Given the description of an element on the screen output the (x, y) to click on. 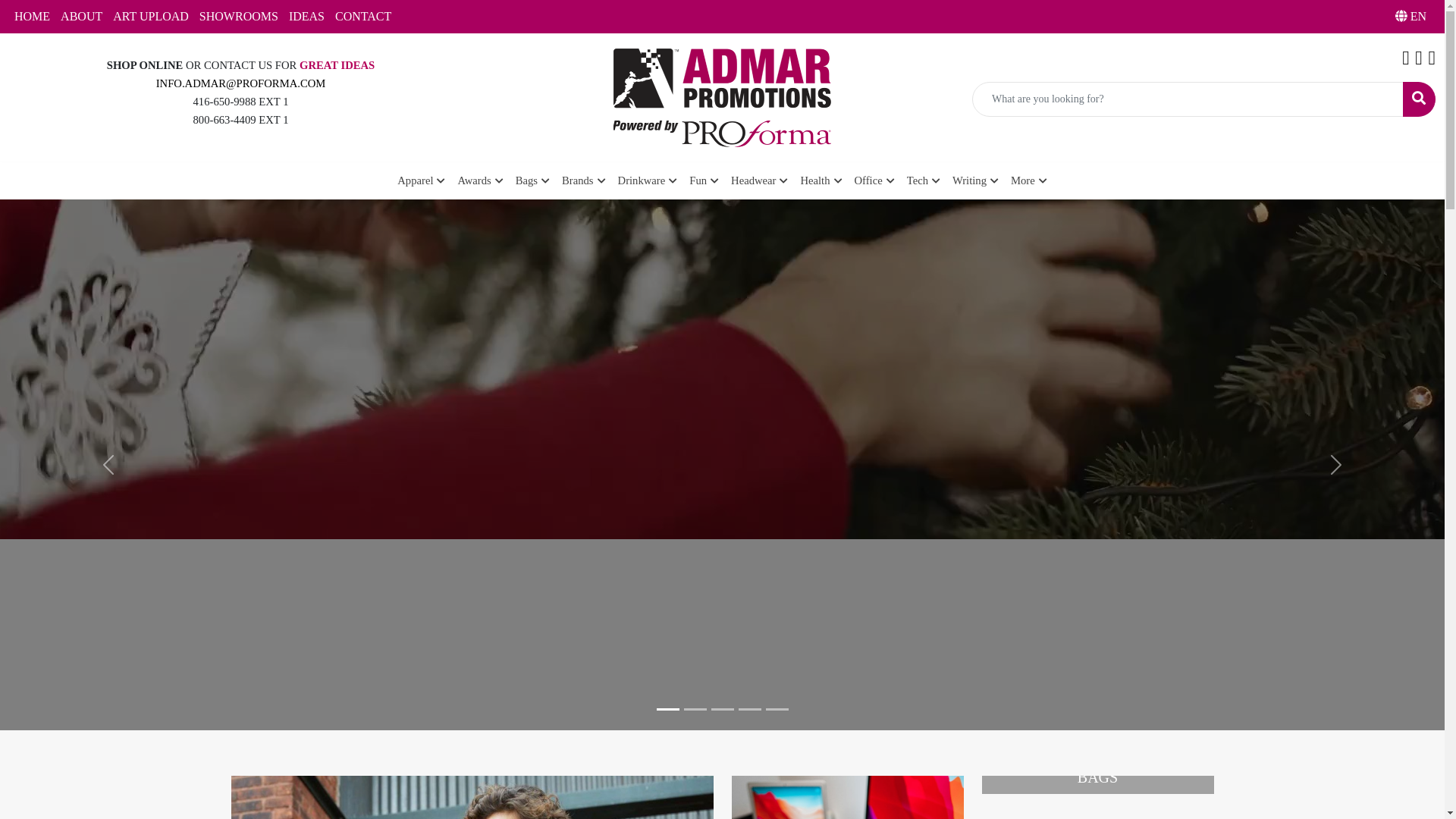
Drinkware Element type: text (654, 180)
Visit us on Facebook Element type: hover (1405, 60)
Fun Element type: text (706, 180)
ABOUT Element type: text (81, 16)
ART UPLOAD Element type: text (150, 16)
IDEAS Element type: text (306, 16)
Bags Element type: text (550, 180)
INFO.ADMAR@PROFORMA.COM Element type: text (241, 83)
Tech Element type: text (905, 180)
HOME Element type: text (32, 16)
Visit us on Twitter Element type: hover (1418, 60)
More Element type: text (1000, 180)
SHOWROOMS Element type: text (238, 16)
EN Element type: text (1414, 16)
Health Element type: text (813, 180)
Office Element type: text (861, 180)
BAGS Element type: text (1097, 784)
Awards Element type: text (503, 180)
Headwear Element type: text (756, 180)
Writing Element type: text (952, 180)
Next Element type: text (1335, 464)
Brands Element type: text (596, 180)
Visit us on LinkedIn Element type: hover (1432, 60)
Previous Element type: text (108, 464)
CONTACT Element type: text (362, 16)
Apparel Element type: text (448, 180)
